Given the description of an element on the screen output the (x, y) to click on. 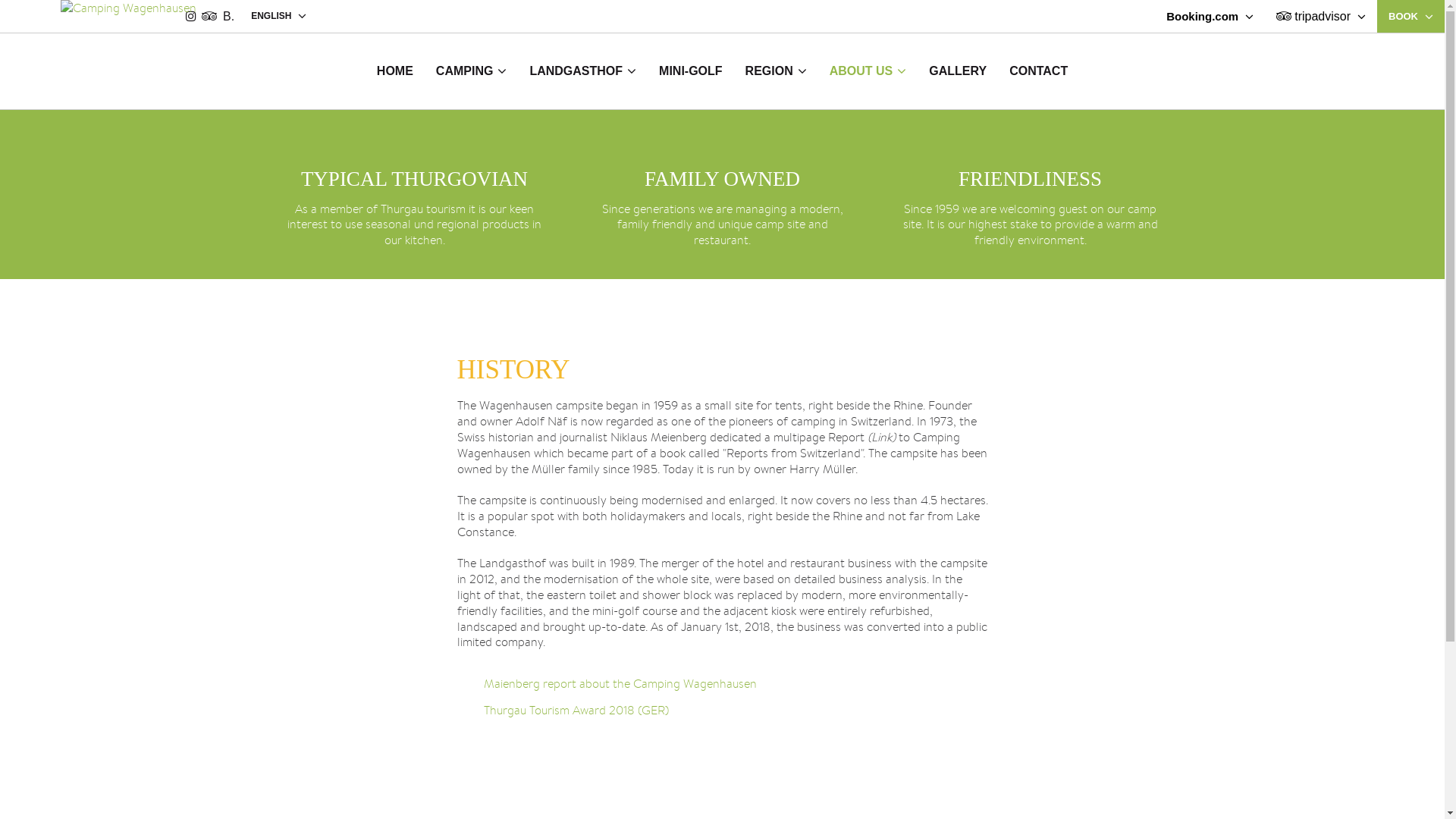
ABOUT US Element type: text (867, 70)
Booking.com Element type: text (1209, 16)
ENGLISH Element type: text (278, 16)
B. Element type: text (230, 16)
Maienberg report about the Camping Wagenhausen Element type: text (721, 683)
CAMPING Element type: text (471, 70)
tripadvisor Element type: text (1320, 16)
MINI-GOLF Element type: text (690, 70)
HOME Element type: text (394, 70)
GALLERY Element type: text (957, 70)
Thurgau Tourism Award 2018 (GER) Element type: text (721, 709)
LANDGASTHOF Element type: text (582, 70)
REGION Element type: text (775, 70)
CONTACT Element type: text (1038, 70)
BOOK Element type: text (1410, 16)
